Given the description of an element on the screen output the (x, y) to click on. 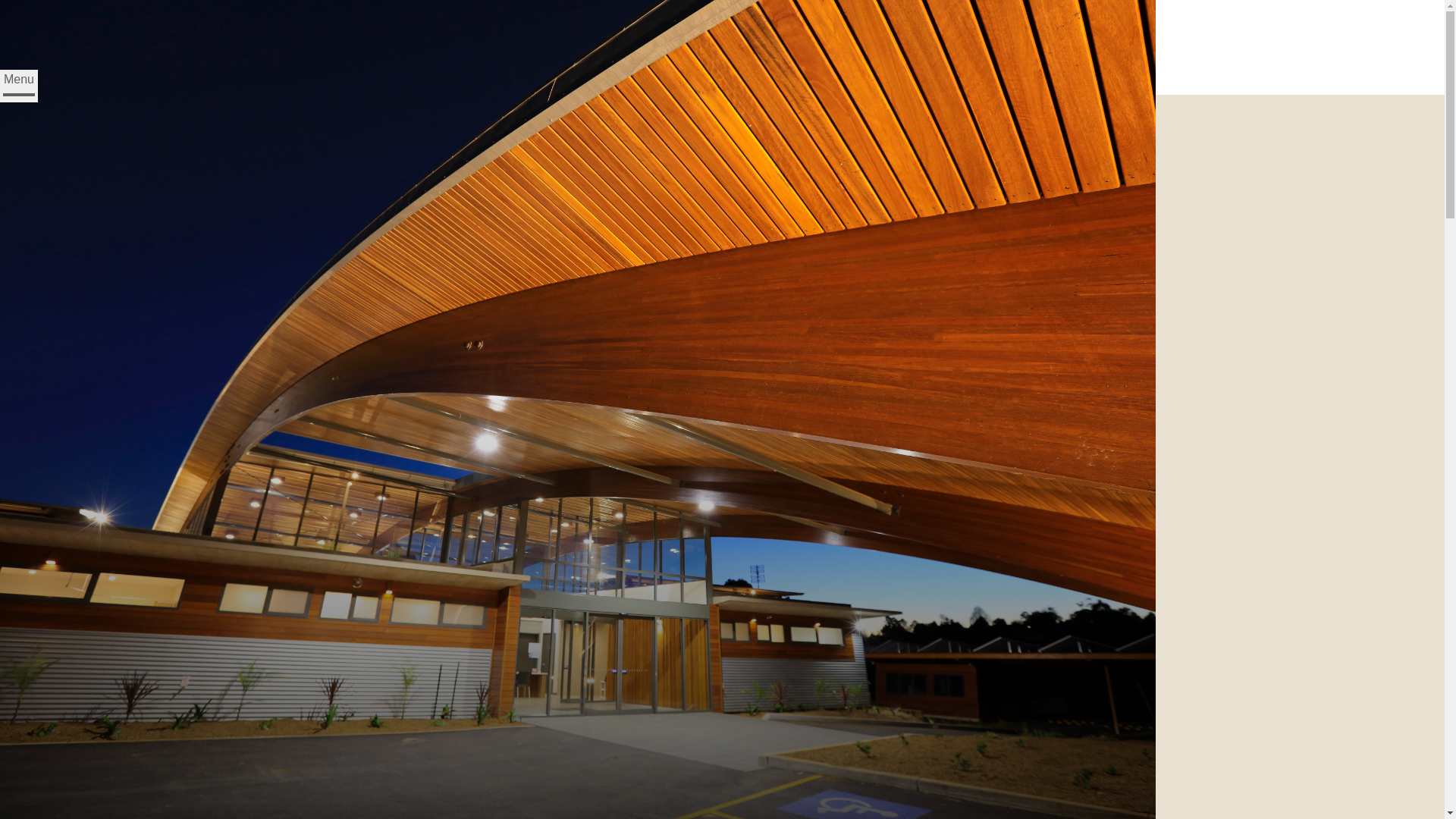
(07) 5444 5578 Element type: text (42, 62)
Menu Element type: text (18, 85)
HR Design Group Element type: text (173, 40)
